Given the description of an element on the screen output the (x, y) to click on. 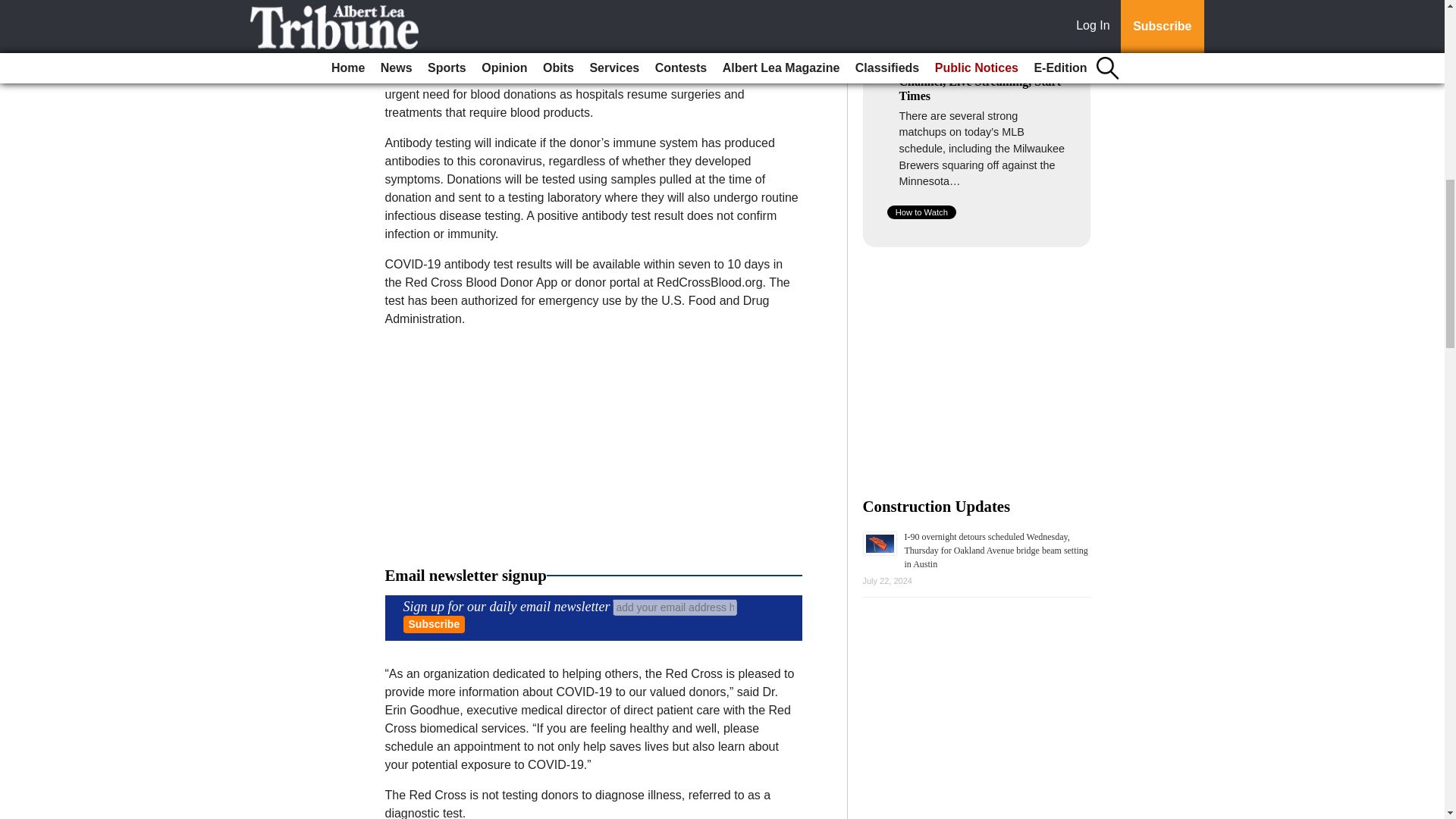
Subscribe (434, 624)
